Given the description of an element on the screen output the (x, y) to click on. 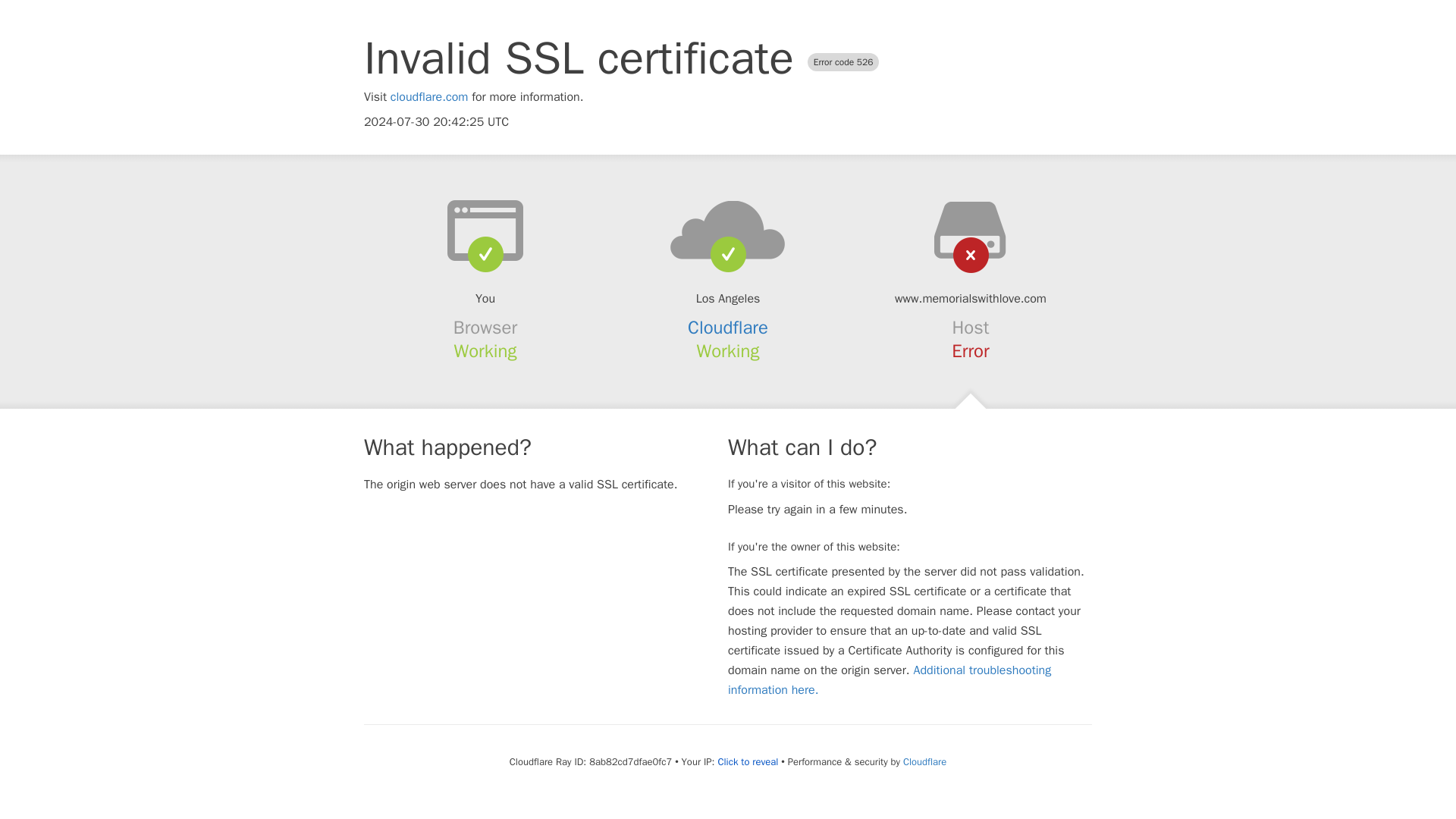
Cloudflare (924, 761)
Additional troubleshooting information here. (889, 679)
Cloudflare (727, 327)
cloudflare.com (429, 96)
Click to reveal (747, 762)
